Given the description of an element on the screen output the (x, y) to click on. 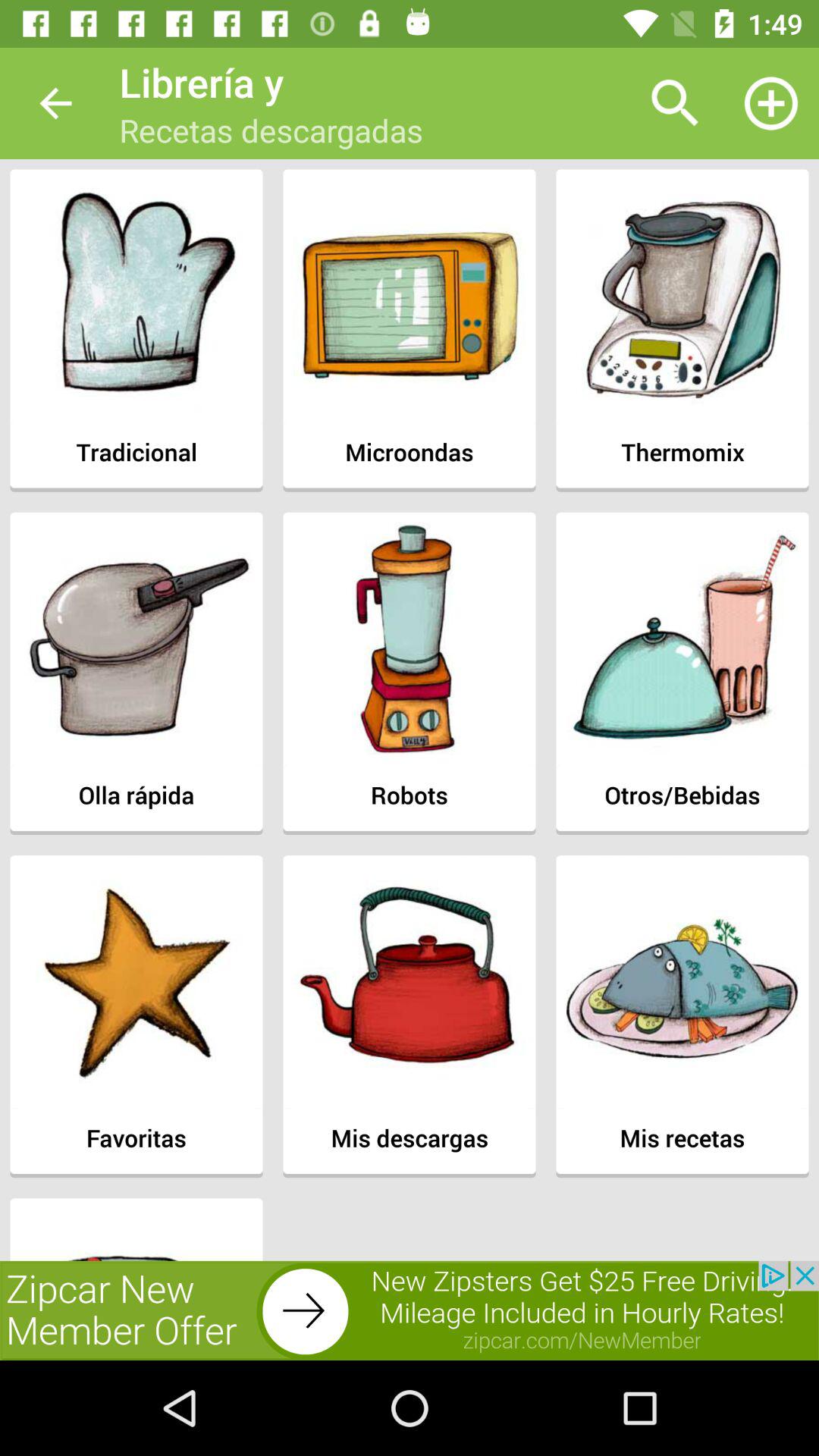
make advertisement (409, 1310)
